Given the description of an element on the screen output the (x, y) to click on. 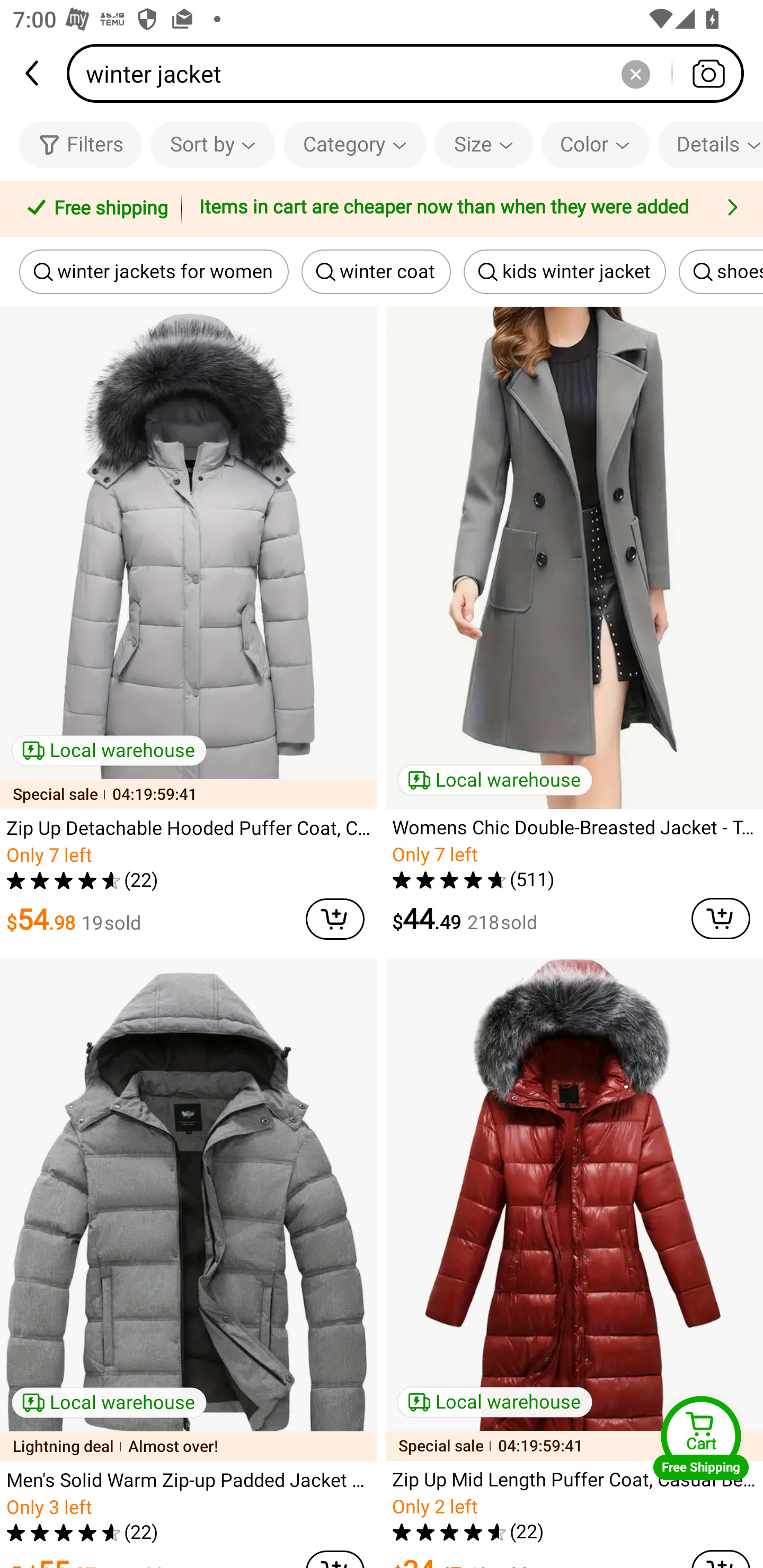
back (33, 72)
winter jacket (411, 73)
Delete search history (635, 73)
Search by photo (708, 73)
Filters (80, 143)
Sort by (212, 143)
Category (354, 143)
Size (483, 143)
Color (594, 143)
Details (710, 143)
 Free shipping (93, 208)
winter jackets for women (153, 271)
winter coat (375, 271)
kids winter jacket (564, 271)
shoes (721, 271)
cart delete (720, 918)
cart delete (334, 918)
Cart Free Shipping Cart (701, 1437)
